Given the description of an element on the screen output the (x, y) to click on. 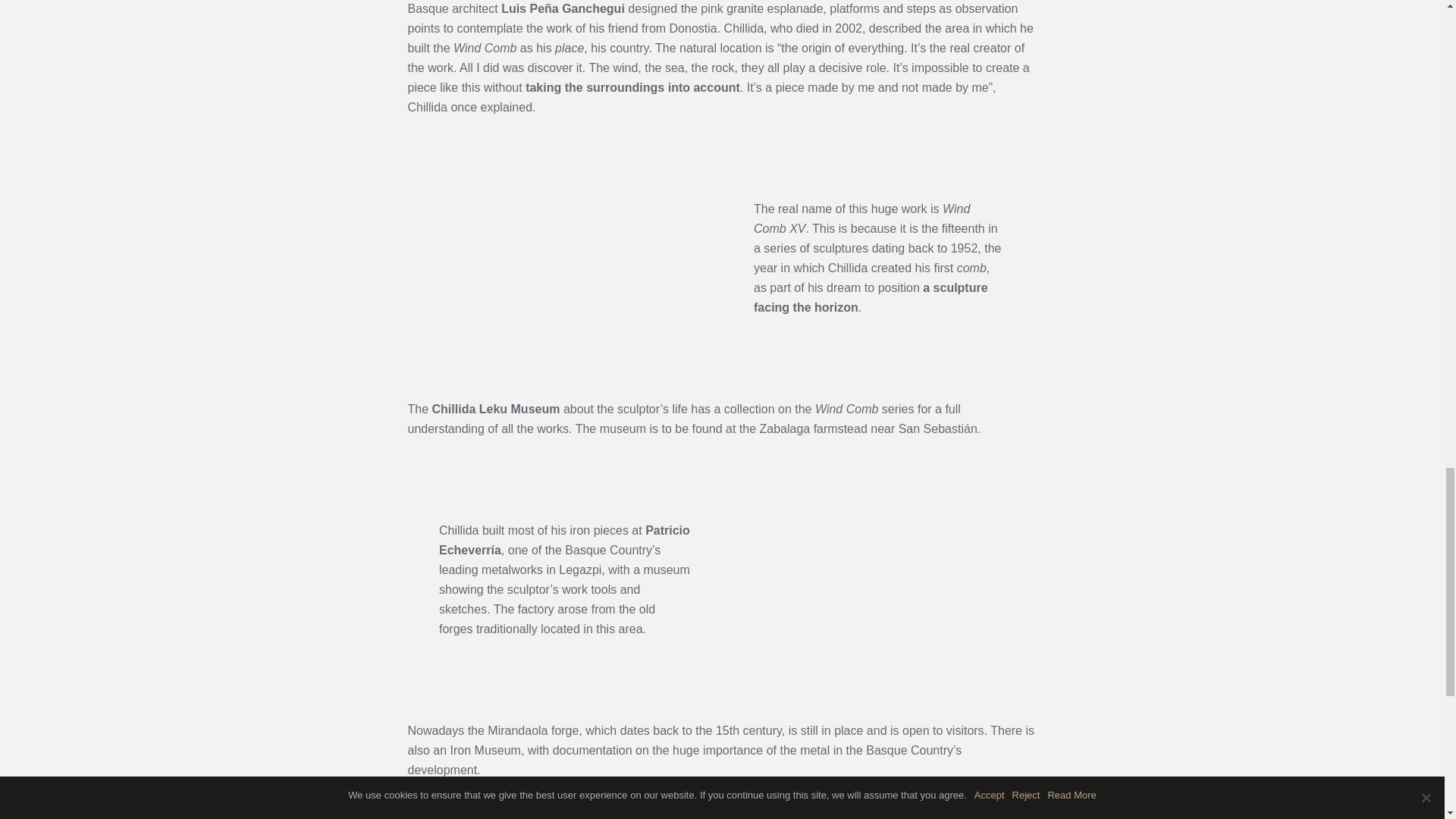
Taller de Chillida en Patricio Echeverria copia (879, 574)
